Given the description of an element on the screen output the (x, y) to click on. 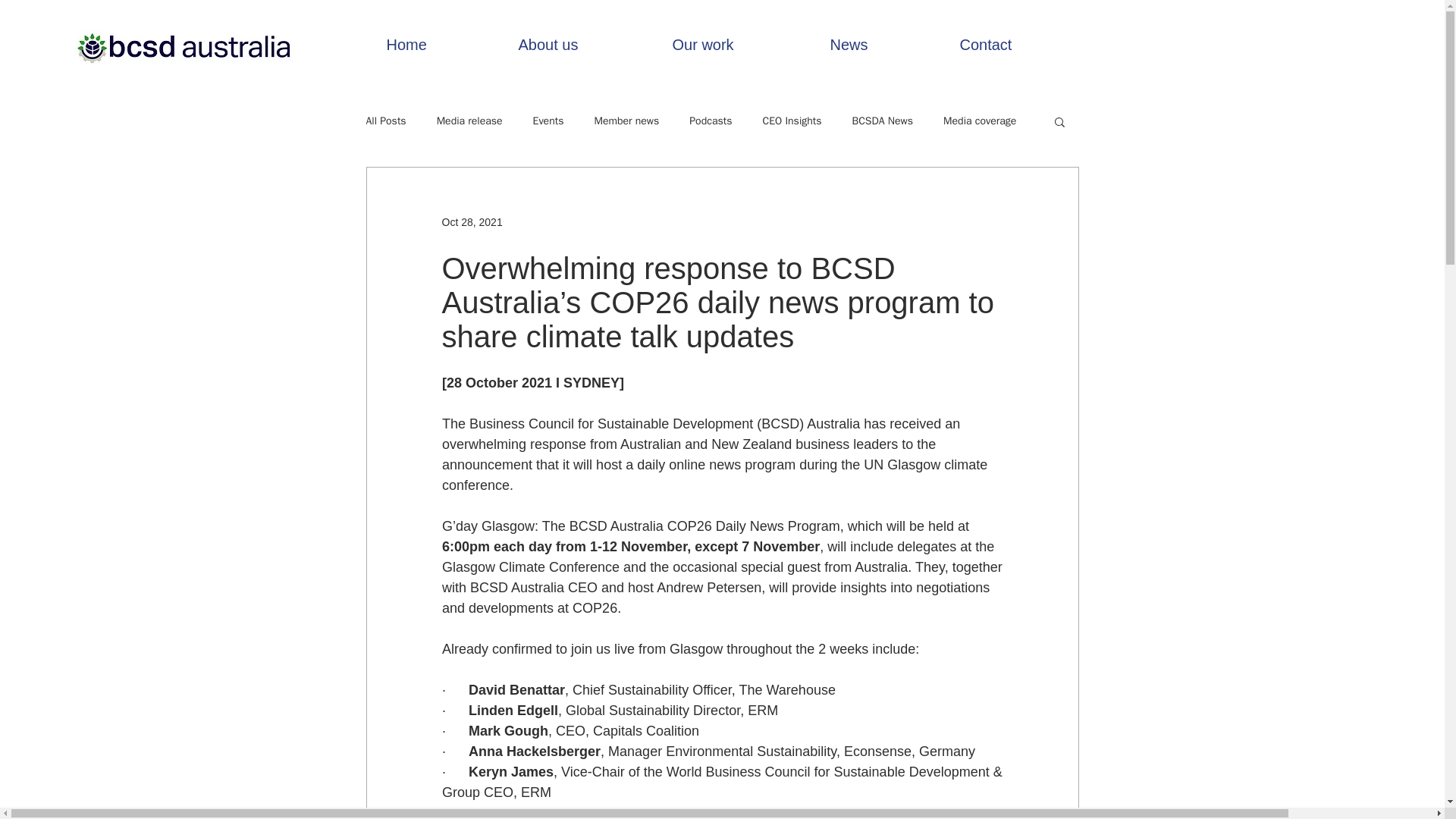
Oct 28, 2021 (471, 221)
News (883, 44)
CEO Insights (792, 120)
Media release (469, 120)
About us (583, 44)
Media coverage (979, 120)
Events (548, 120)
BCSDA News (882, 120)
All Posts (385, 120)
Contact (1020, 44)
